Given the description of an element on the screen output the (x, y) to click on. 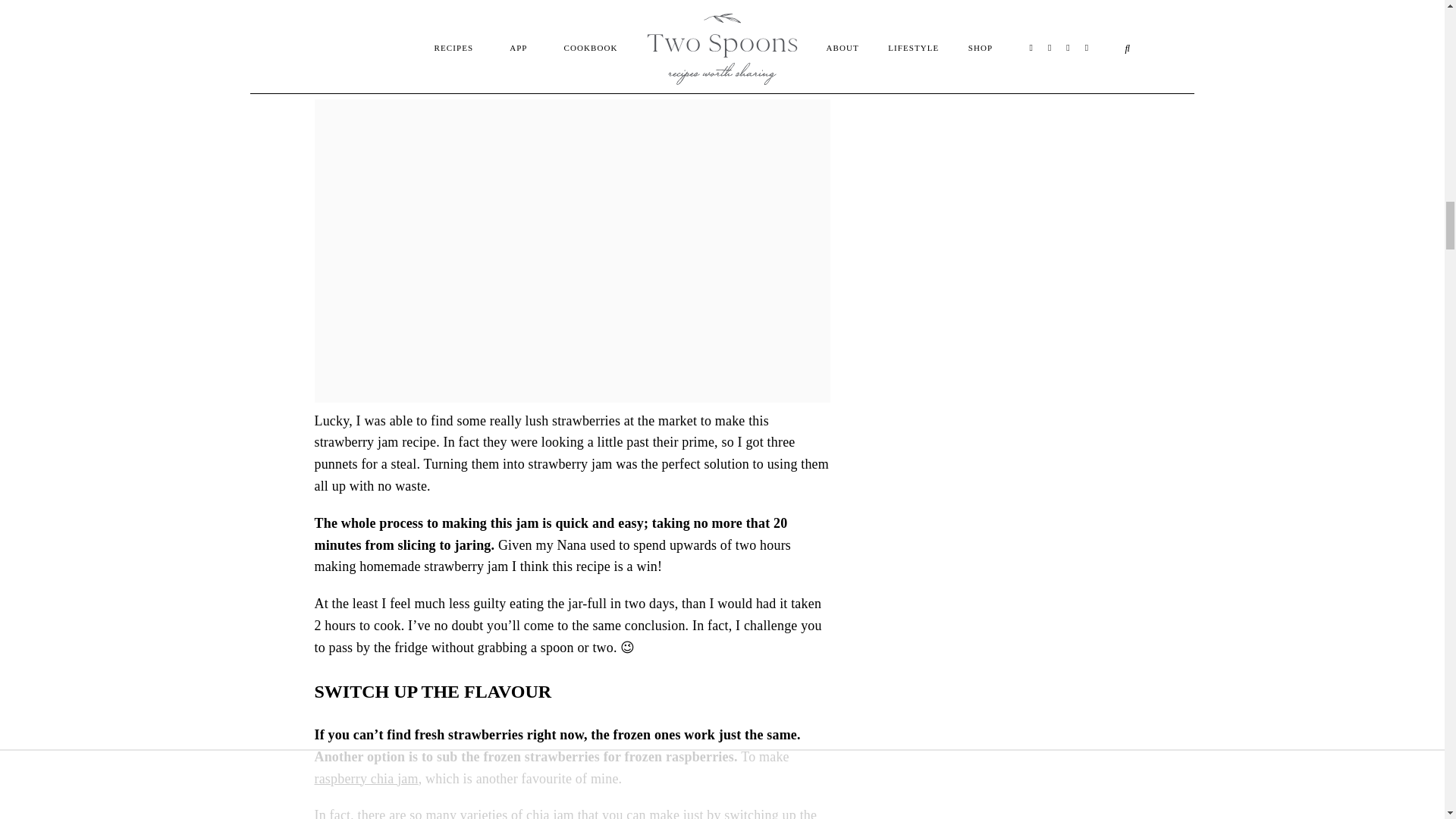
raspberry chia jam (365, 778)
